Given the description of an element on the screen output the (x, y) to click on. 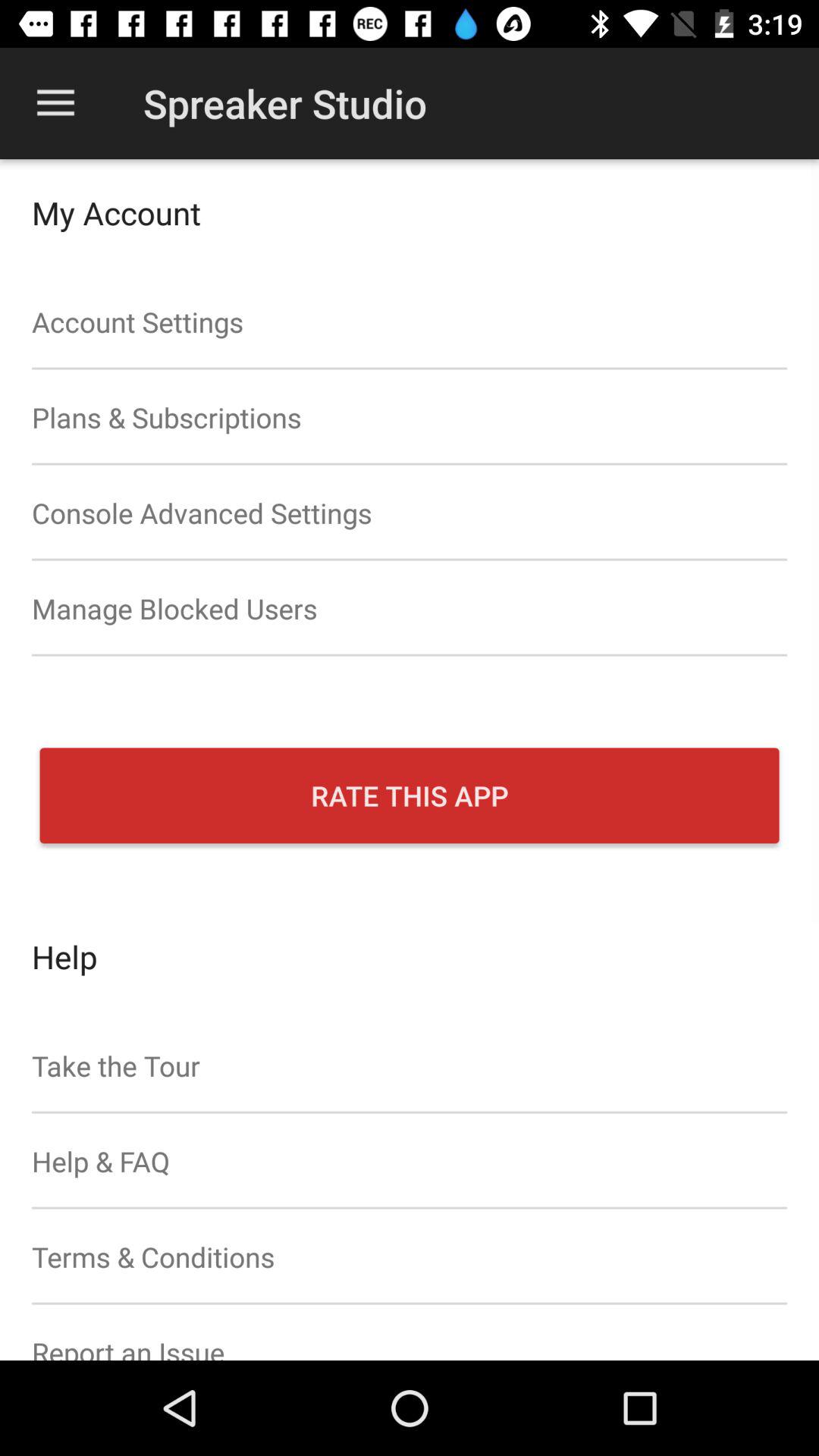
swipe to the terms & conditions icon (409, 1256)
